Given the description of an element on the screen output the (x, y) to click on. 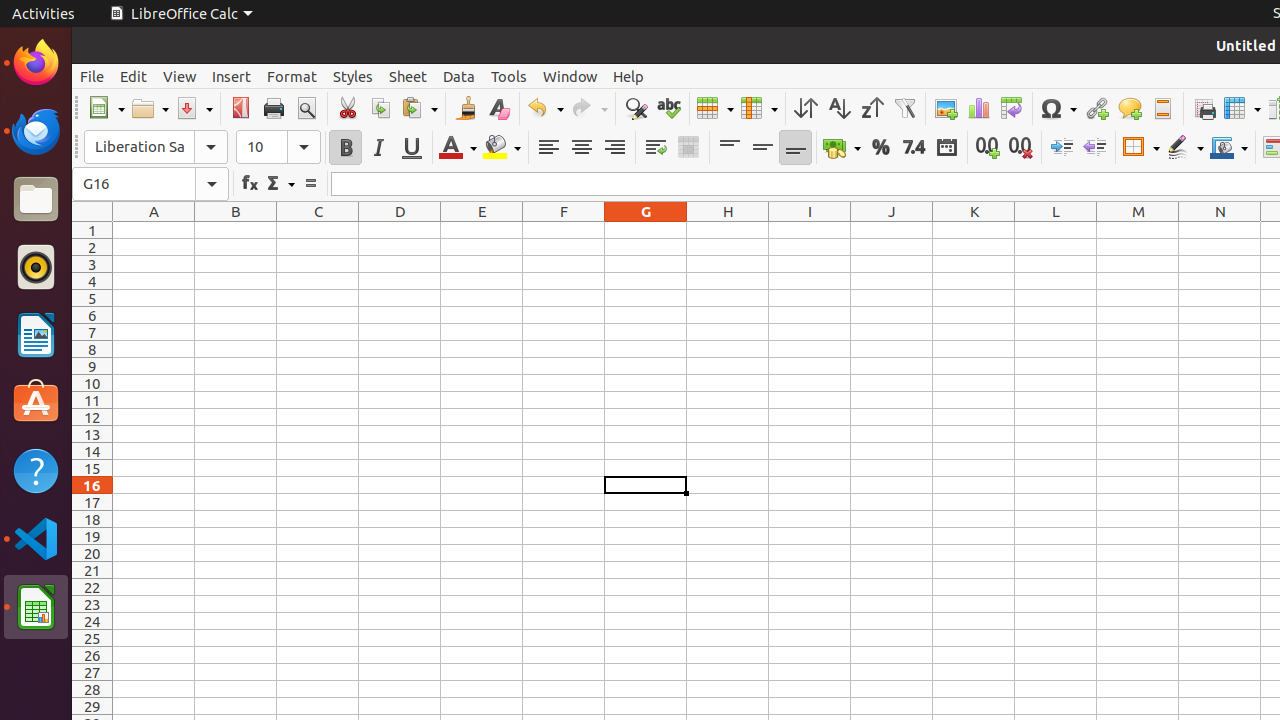
Data Element type: menu (459, 76)
Italic Element type: toggle-button (378, 147)
Tools Element type: menu (509, 76)
View Element type: menu (179, 76)
Select Function Element type: push-button (280, 183)
